Given the description of an element on the screen output the (x, y) to click on. 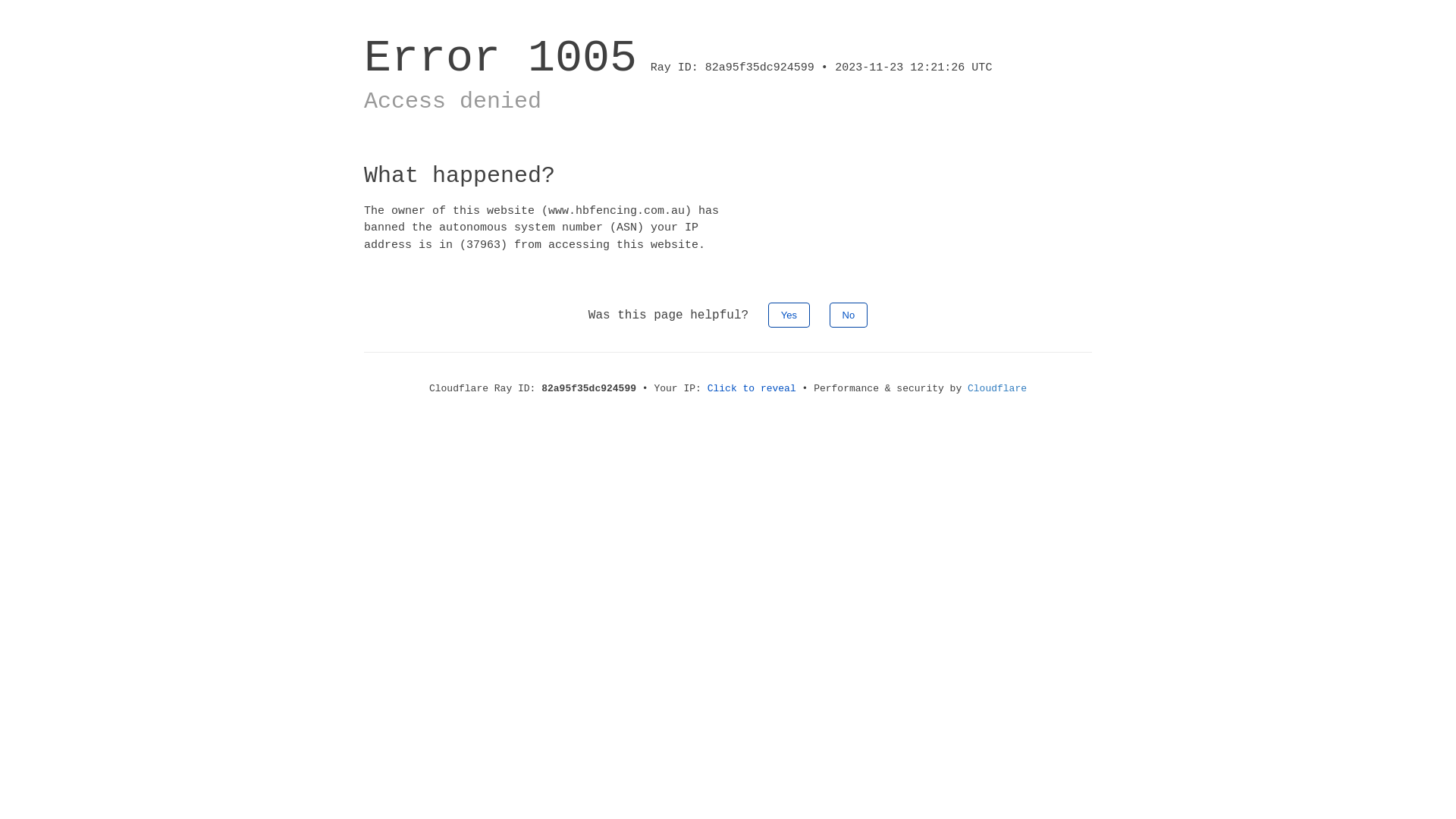
Click to reveal Element type: text (751, 388)
Cloudflare Element type: text (996, 388)
No Element type: text (848, 314)
Yes Element type: text (788, 314)
